Given the description of an element on the screen output the (x, y) to click on. 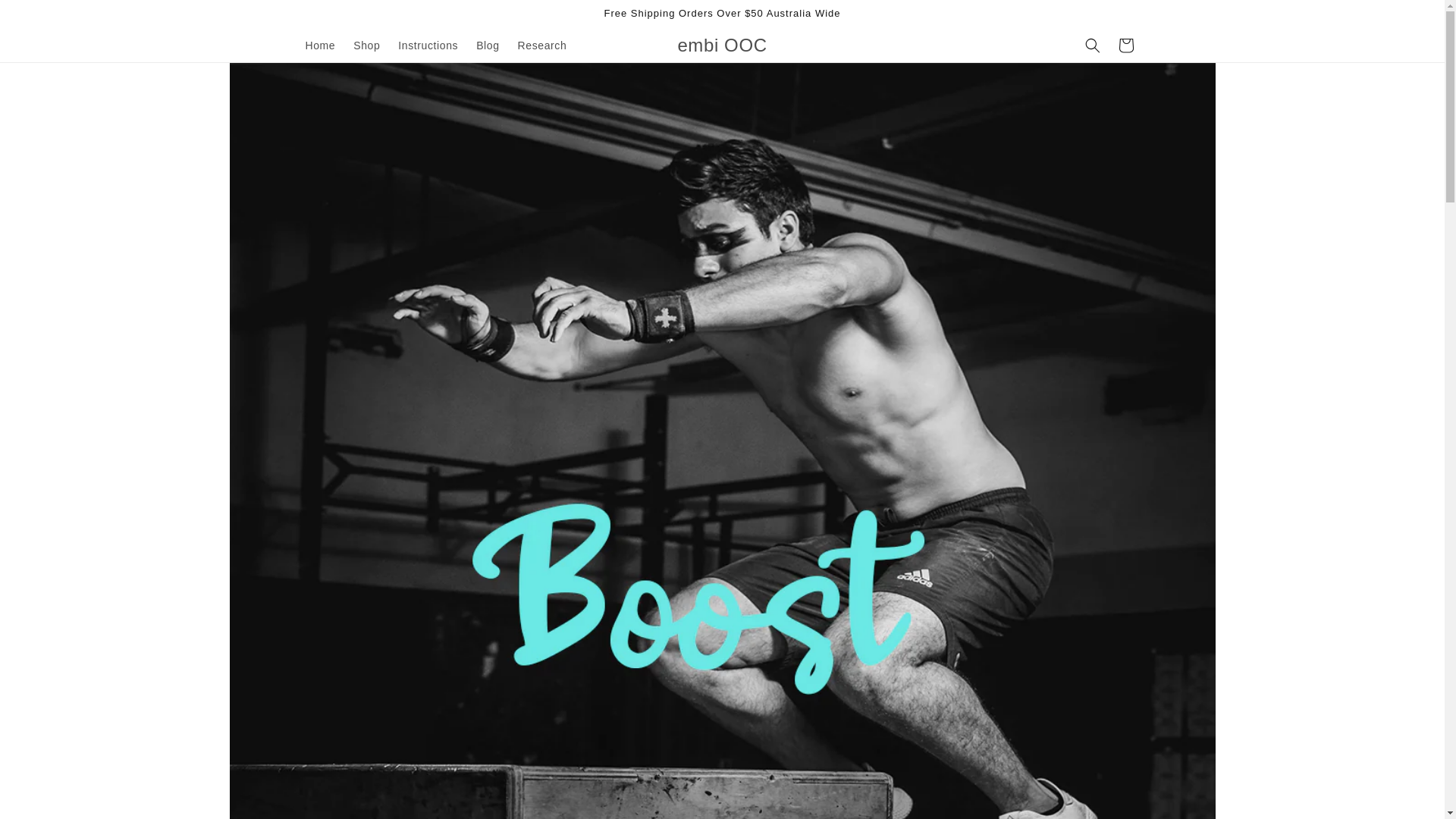
Instructions (427, 45)
Research (542, 45)
Cart (1124, 45)
Shop (365, 45)
Home (319, 45)
Blog (487, 45)
Skip to content (45, 17)
embi OOC (722, 44)
